Given the description of an element on the screen output the (x, y) to click on. 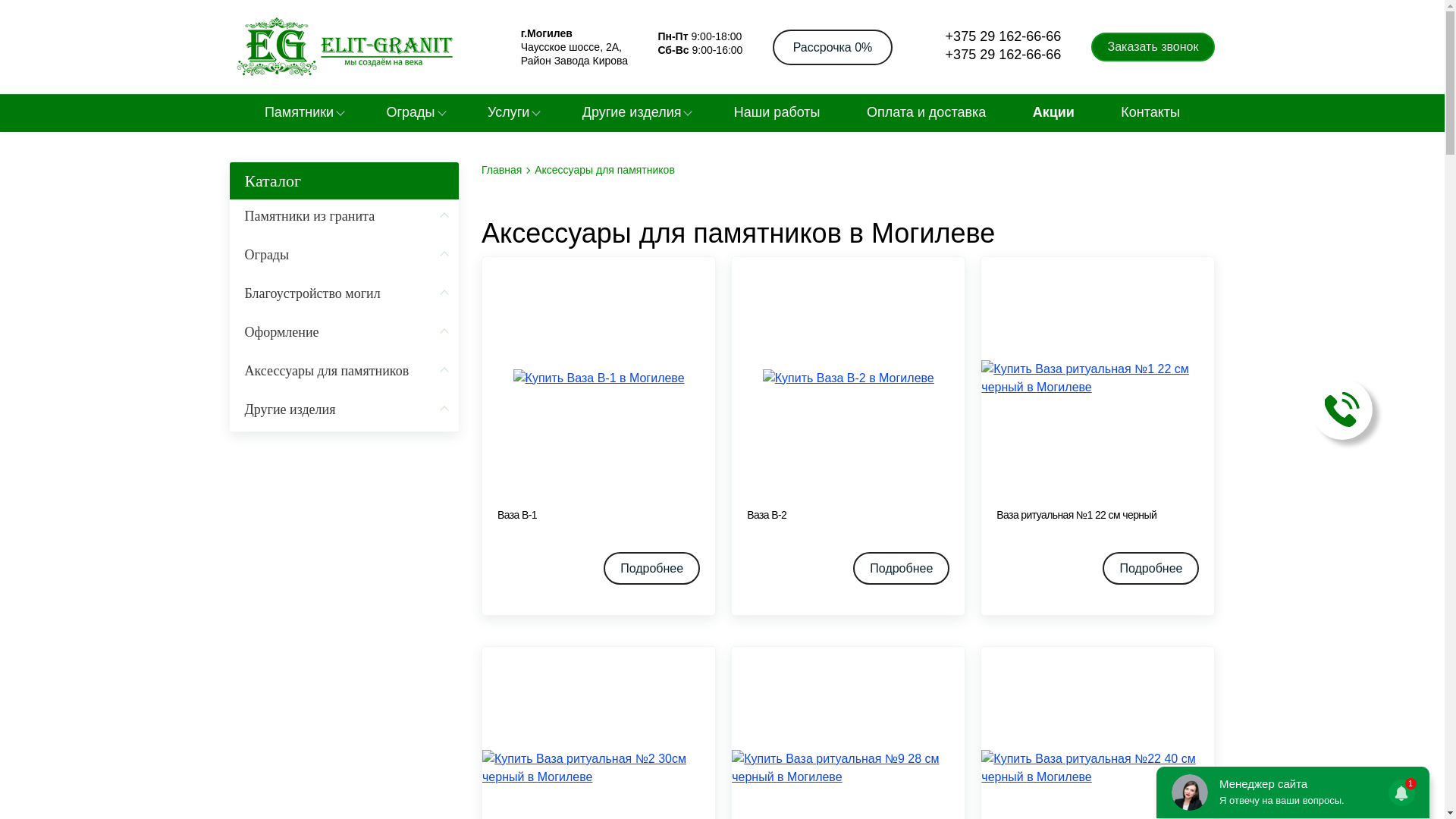
+375 29 162-66-66 Element type: text (991, 37)
+375 29 162-66-66 Element type: text (991, 54)
